Given the description of an element on the screen output the (x, y) to click on. 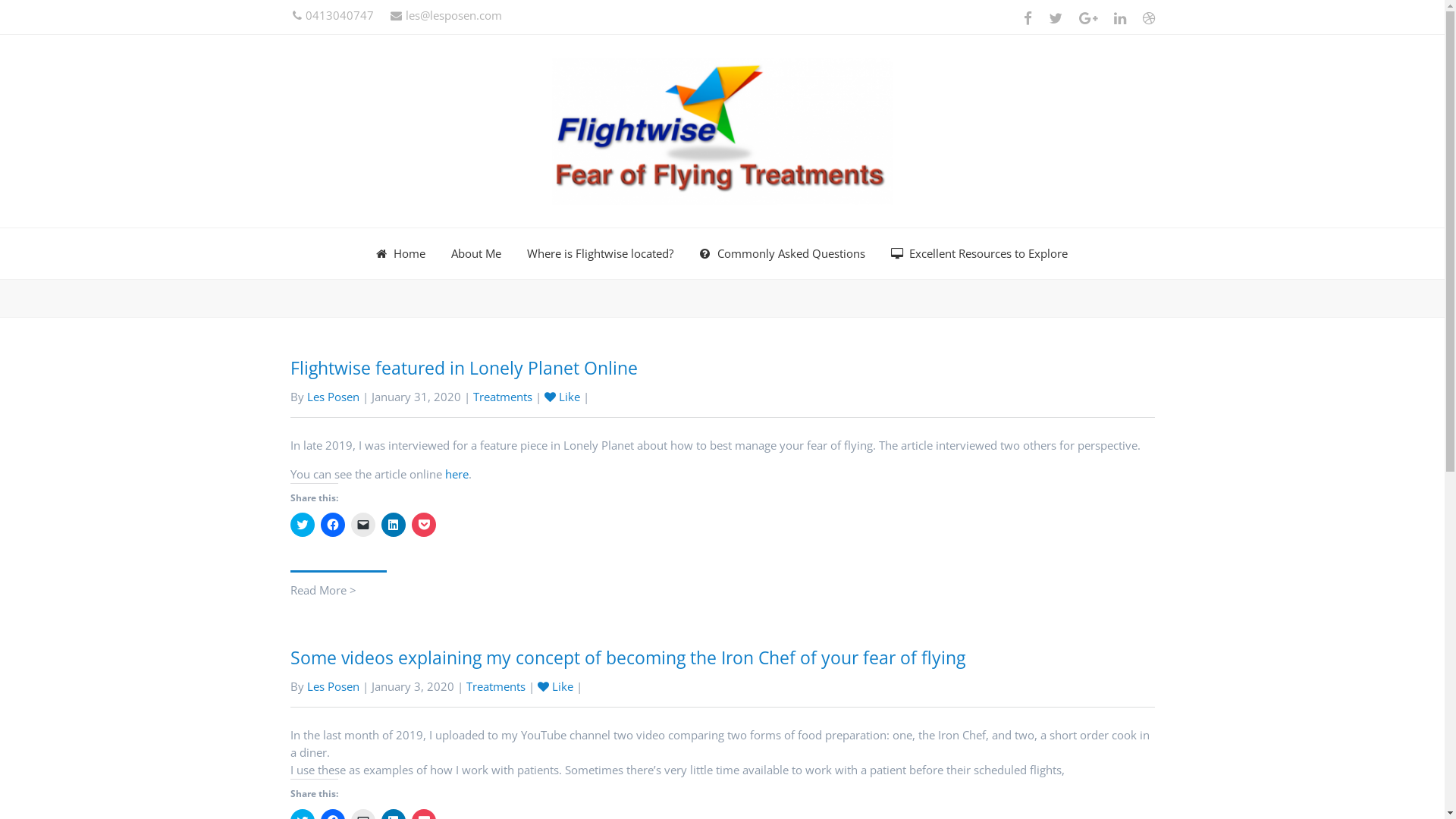
Click to share on Pocket (Opens in new window) Element type: text (423, 524)
les@lesposen.com Element type: text (445, 14)
Treatments Element type: text (502, 396)
About Me Element type: text (475, 253)
Read More > Element type: text (337, 584)
here Element type: text (455, 473)
Click to share on Twitter (Opens in new window) Element type: text (301, 524)
Excellent Resources to Explore Element type: text (979, 253)
Click to share on LinkedIn (Opens in new window) Element type: text (392, 524)
Commonly Asked Questions Element type: text (781, 253)
Like Element type: text (554, 685)
Where is Flightwise located? Element type: text (599, 253)
0413040747 Element type: text (332, 14)
Flightwise featured in Lonely Planet Online Element type: text (463, 367)
Click to email a link to a friend (Opens in new window) Element type: text (362, 524)
Like Element type: text (562, 396)
Treatments Element type: text (494, 685)
Les Posen Element type: text (332, 685)
Click to share on Facebook (Opens in new window) Element type: text (332, 524)
Les Posen Element type: text (332, 396)
Flightwise Fear of Flying Element type: hover (722, 130)
Home Element type: text (400, 253)
